Given the description of an element on the screen output the (x, y) to click on. 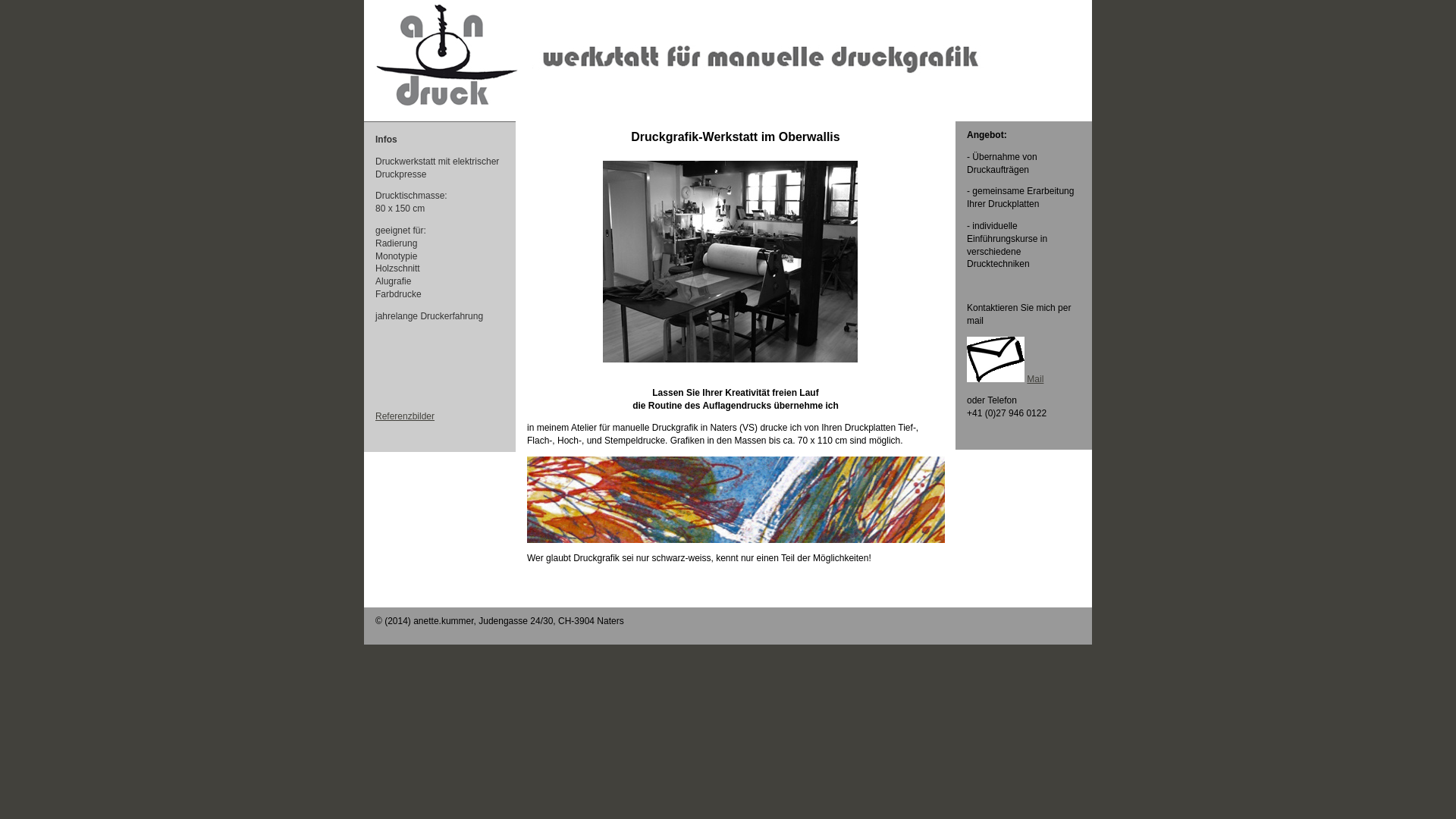
Mail Element type: text (1034, 378)
Referenzbilder Element type: text (404, 416)
